Given the description of an element on the screen output the (x, y) to click on. 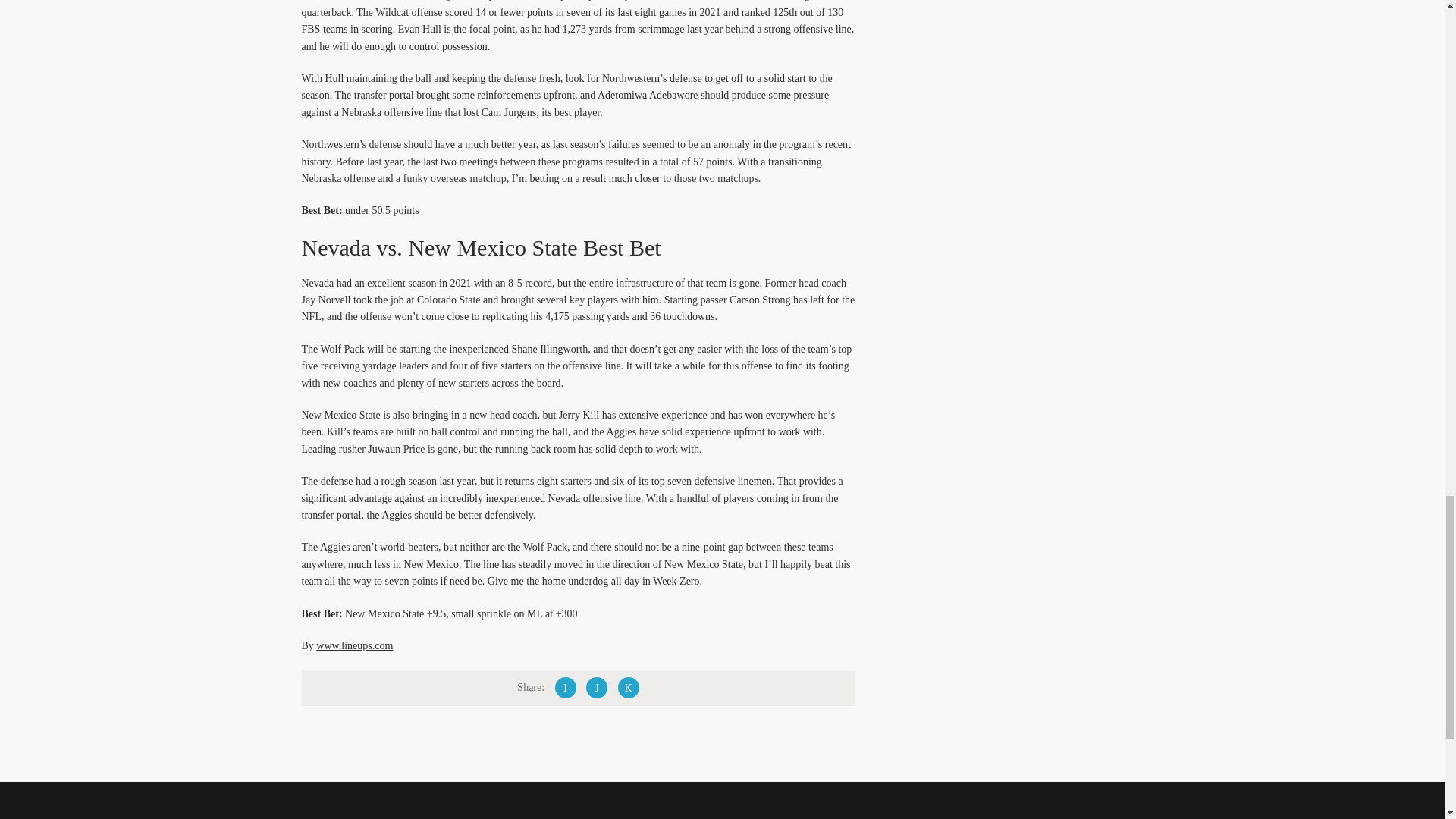
www.lineups.com (354, 645)
Share on Twitter (596, 687)
Share on Facebook (565, 687)
Share by email (628, 687)
